Given the description of an element on the screen output the (x, y) to click on. 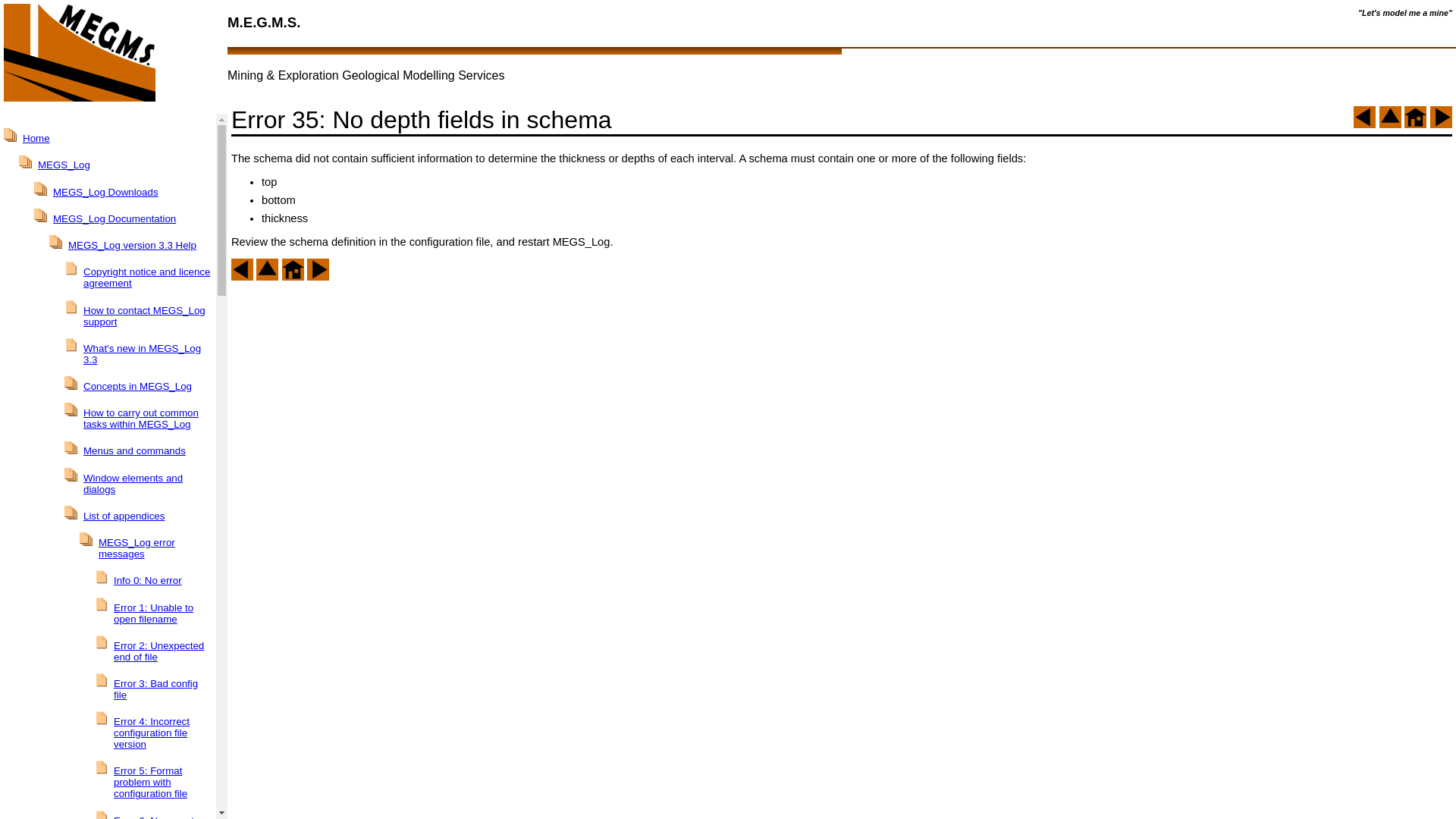
Copyright notice and licence agreement Element type: text (146, 277)
Error 1: Unable to open filename Element type: text (153, 613)
How to contact MEGS_Log support Element type: text (144, 315)
What's new in MEGS_Log 3.3 Element type: text (141, 353)
MEGS_Log version 3.3 Help Element type: text (132, 245)
Home Element type: text (36, 138)
List of appendices Element type: text (123, 515)
Info 0: No error Element type: text (147, 580)
Error 2: Unexpected end of file Element type: text (158, 651)
Error 5: Format problem with configuration file Element type: text (150, 782)
How to carry out common tasks within MEGS_Log Element type: text (140, 418)
MEGS_Log Downloads Element type: text (105, 191)
Concepts in MEGS_Log Element type: text (137, 386)
Menus and commands Element type: text (134, 450)
MEGS_Log Documentation Element type: text (114, 218)
Error 4: Incorrect configuration file version Element type: text (151, 732)
Error 3: Bad config file Element type: text (155, 688)
MEGMS logo - go to the home page Element type: text (113, 53)
MEGS_Log Element type: text (63, 164)
MEGS_Log error messages Element type: text (136, 547)
Window elements and dialogs Element type: text (132, 483)
